Given the description of an element on the screen output the (x, y) to click on. 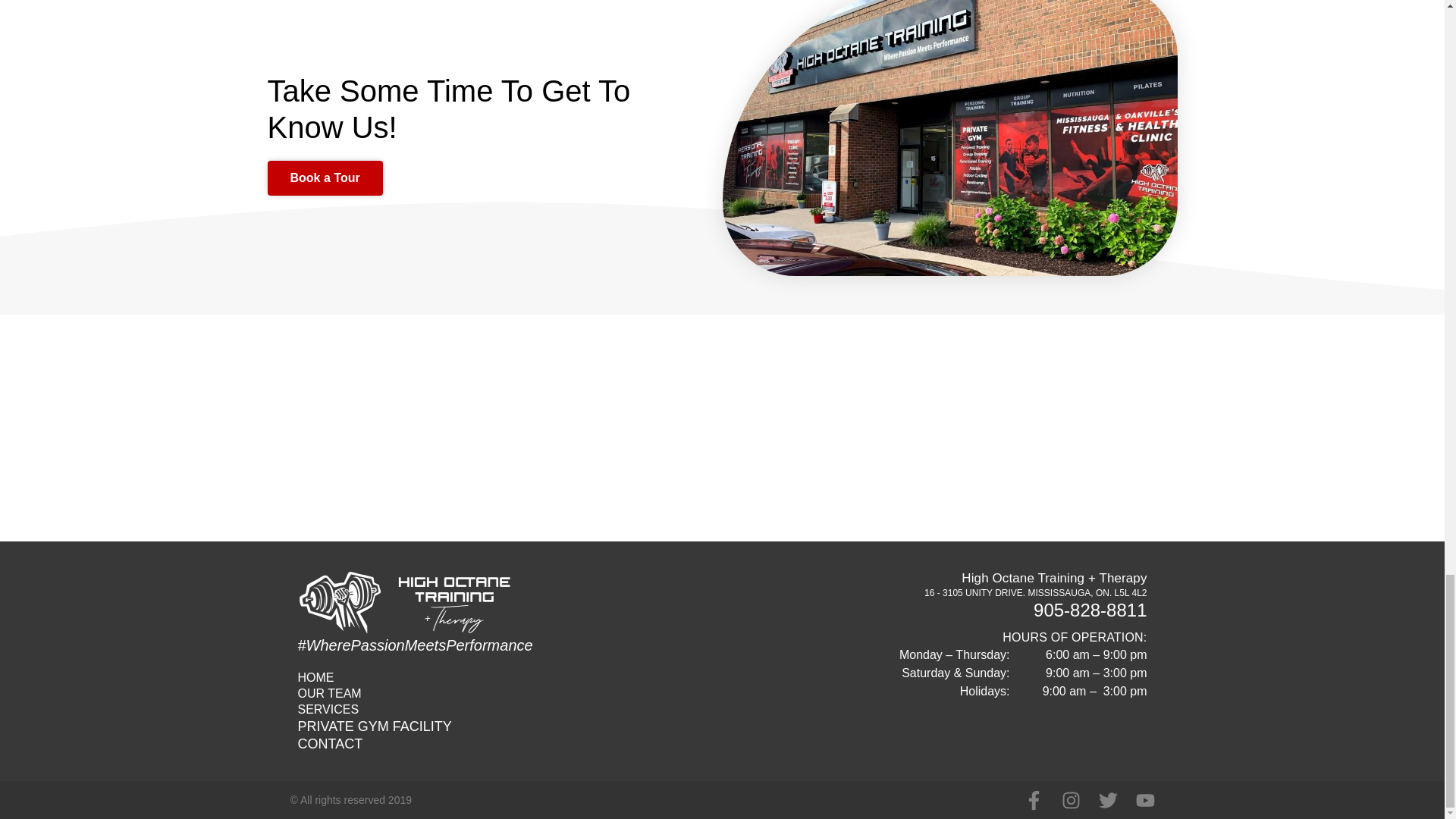
Book a Tour (323, 177)
